Given the description of an element on the screen output the (x, y) to click on. 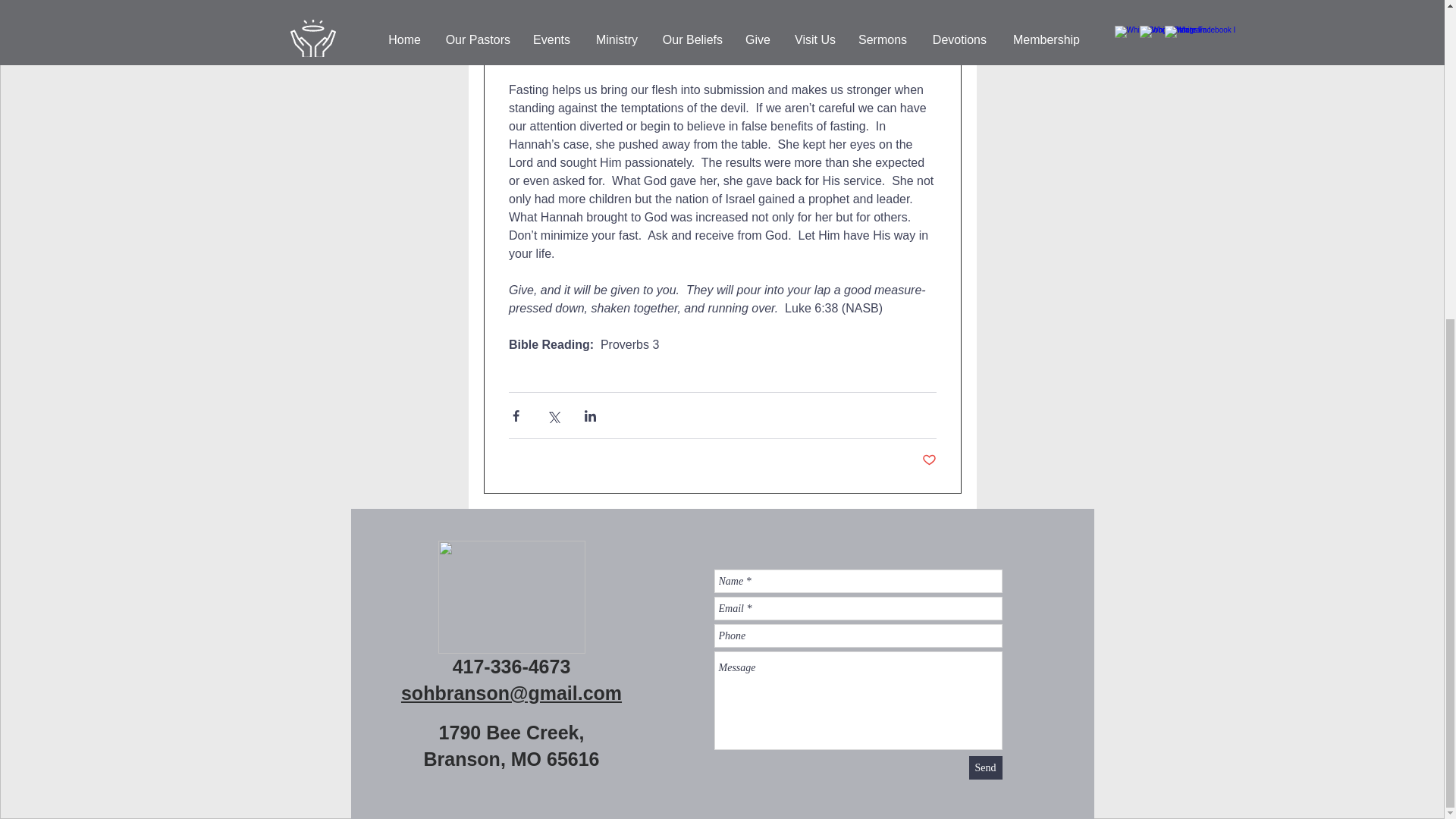
Post not marked as liked (928, 460)
Send (986, 767)
